Given the description of an element on the screen output the (x, y) to click on. 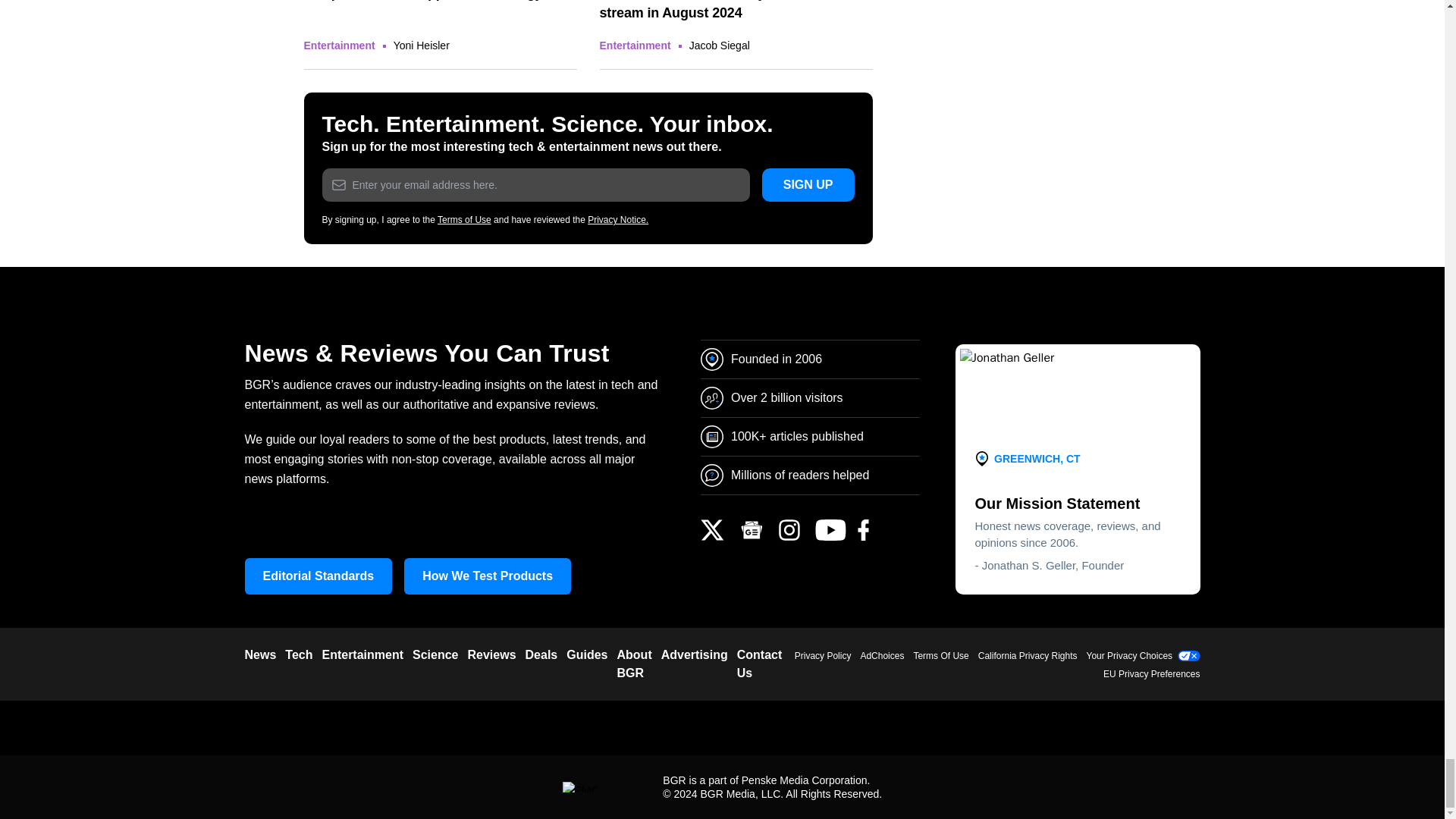
Posts by Yoni Heisler (421, 45)
Posts by Jacob Siegal (718, 45)
